Given the description of an element on the screen output the (x, y) to click on. 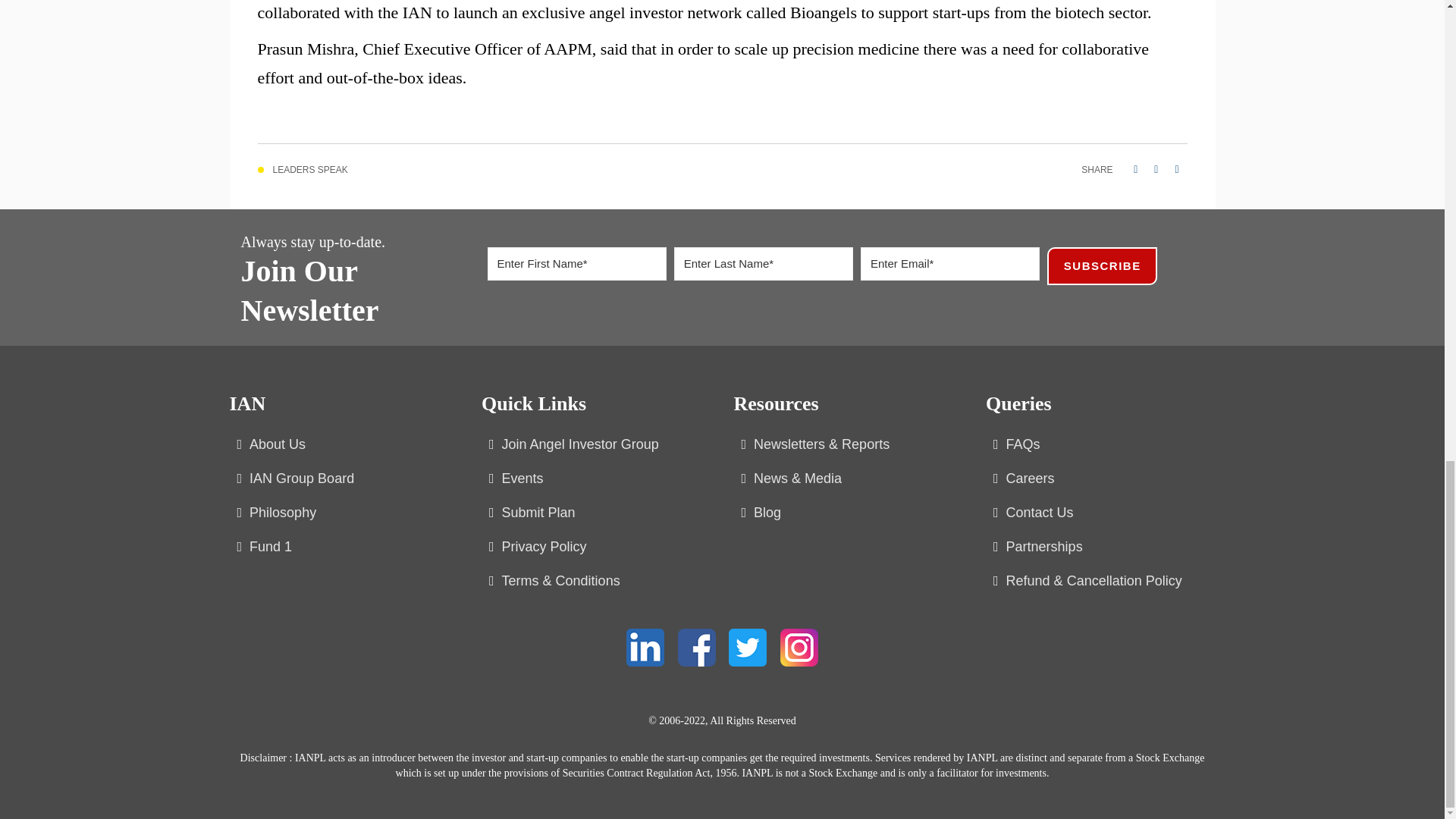
Subscribe (1101, 266)
